Given the description of an element on the screen output the (x, y) to click on. 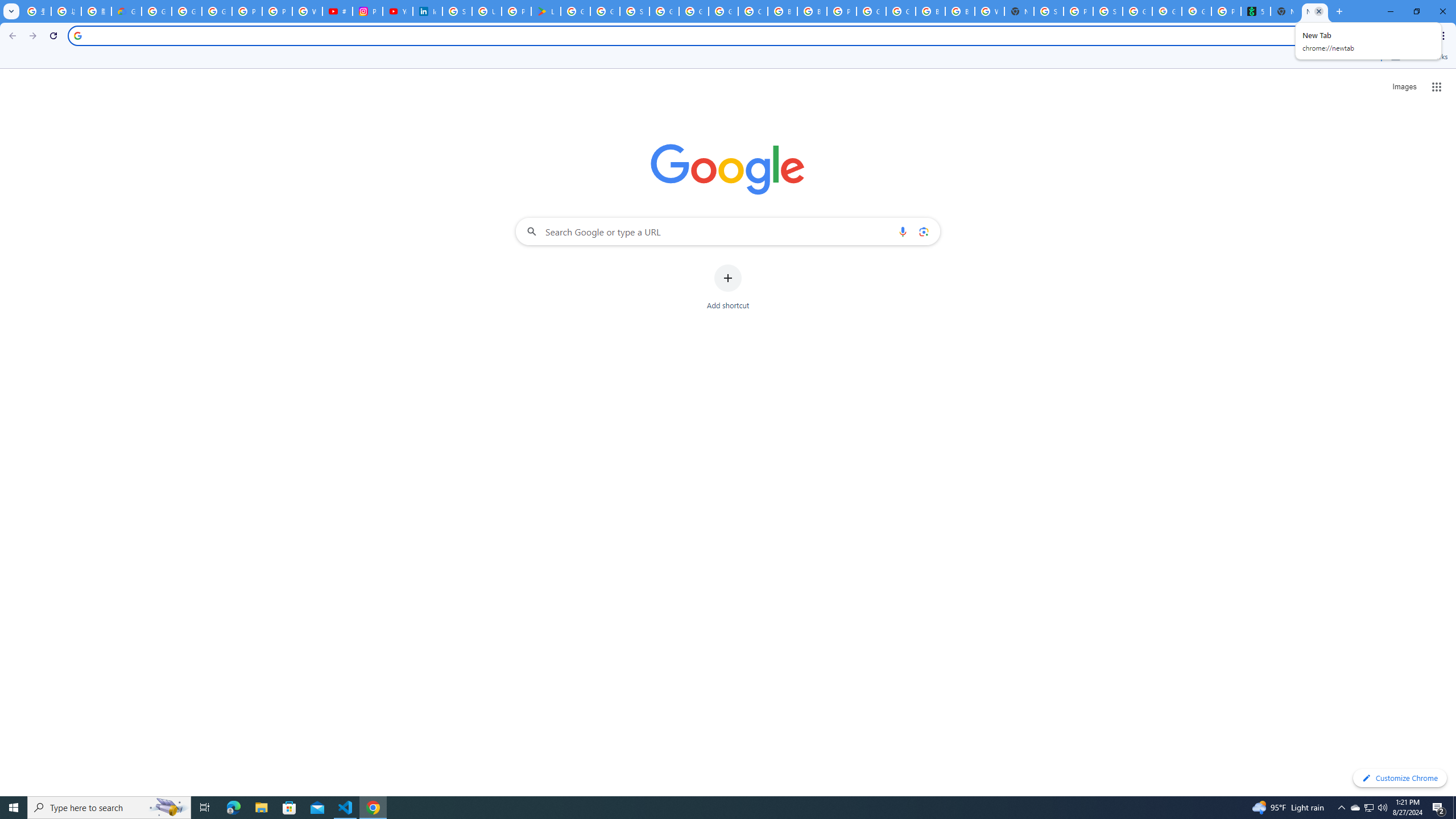
Last Shelter: Survival - Apps on Google Play (545, 11)
Address and search bar (725, 35)
Privacy Help Center - Policies Help (277, 11)
Bookmark this tab (1373, 35)
System (6, 6)
New Tab (1018, 11)
Browse Chrome as a guest - Computer - Google Chrome Help (782, 11)
Browse Chrome as a guest - Computer - Google Chrome Help (811, 11)
Google apps (1436, 86)
Reload (52, 35)
Google Cloud Platform (871, 11)
